Given the description of an element on the screen output the (x, y) to click on. 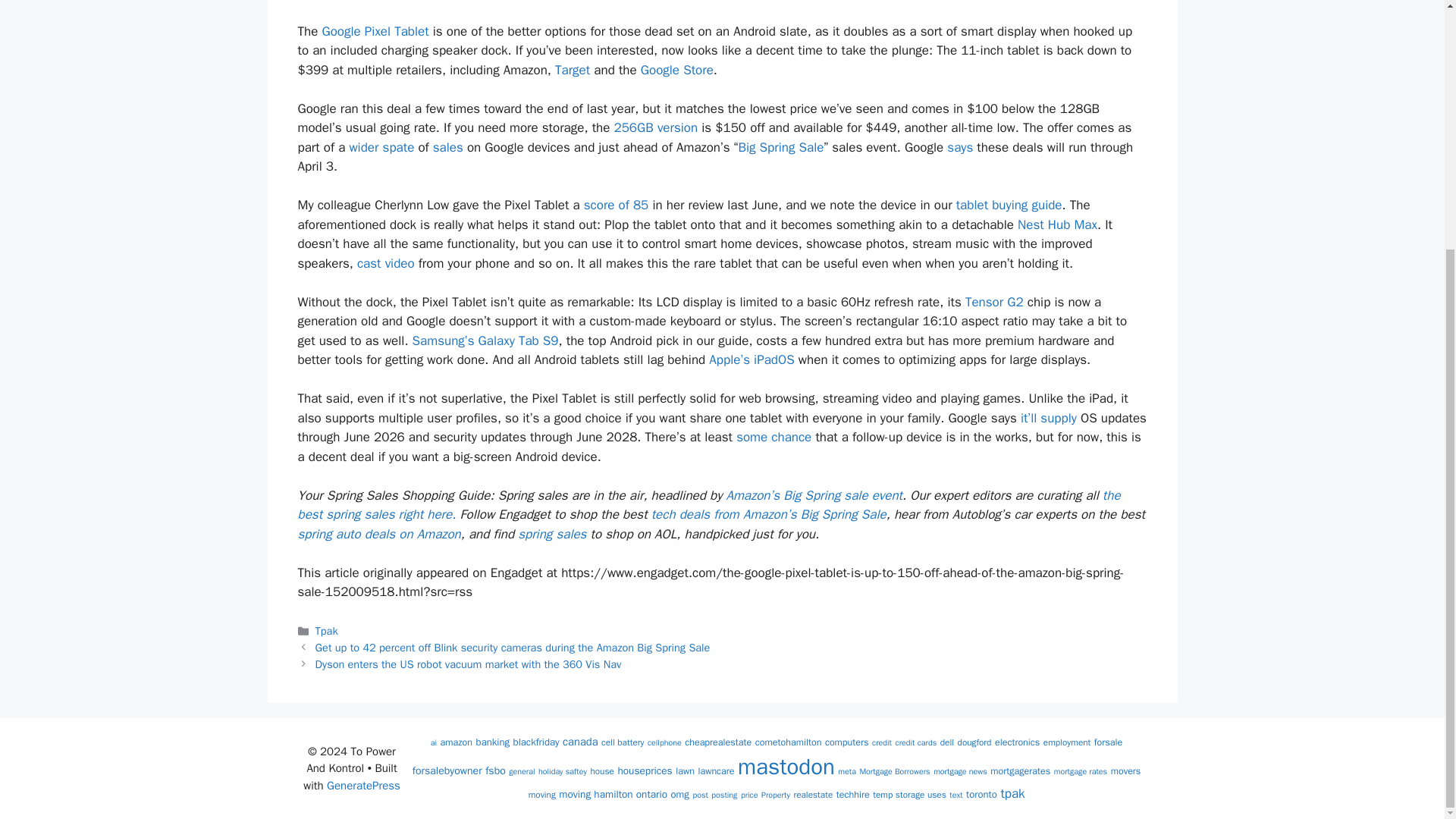
spate (398, 147)
says (959, 147)
cellphone (664, 742)
spring auto deals on Amazon (378, 534)
Google Pixel Tablet (374, 31)
Dyson enters the US robot vacuum market with the 360 Vis Nav (468, 663)
Tpak (326, 631)
Tensor G2 (994, 302)
Big Spring Sale (781, 147)
cell battery (622, 742)
score of 85 (616, 204)
256GB version (654, 127)
Nest Hub Max (1057, 224)
cast video (385, 263)
